Given the description of an element on the screen output the (x, y) to click on. 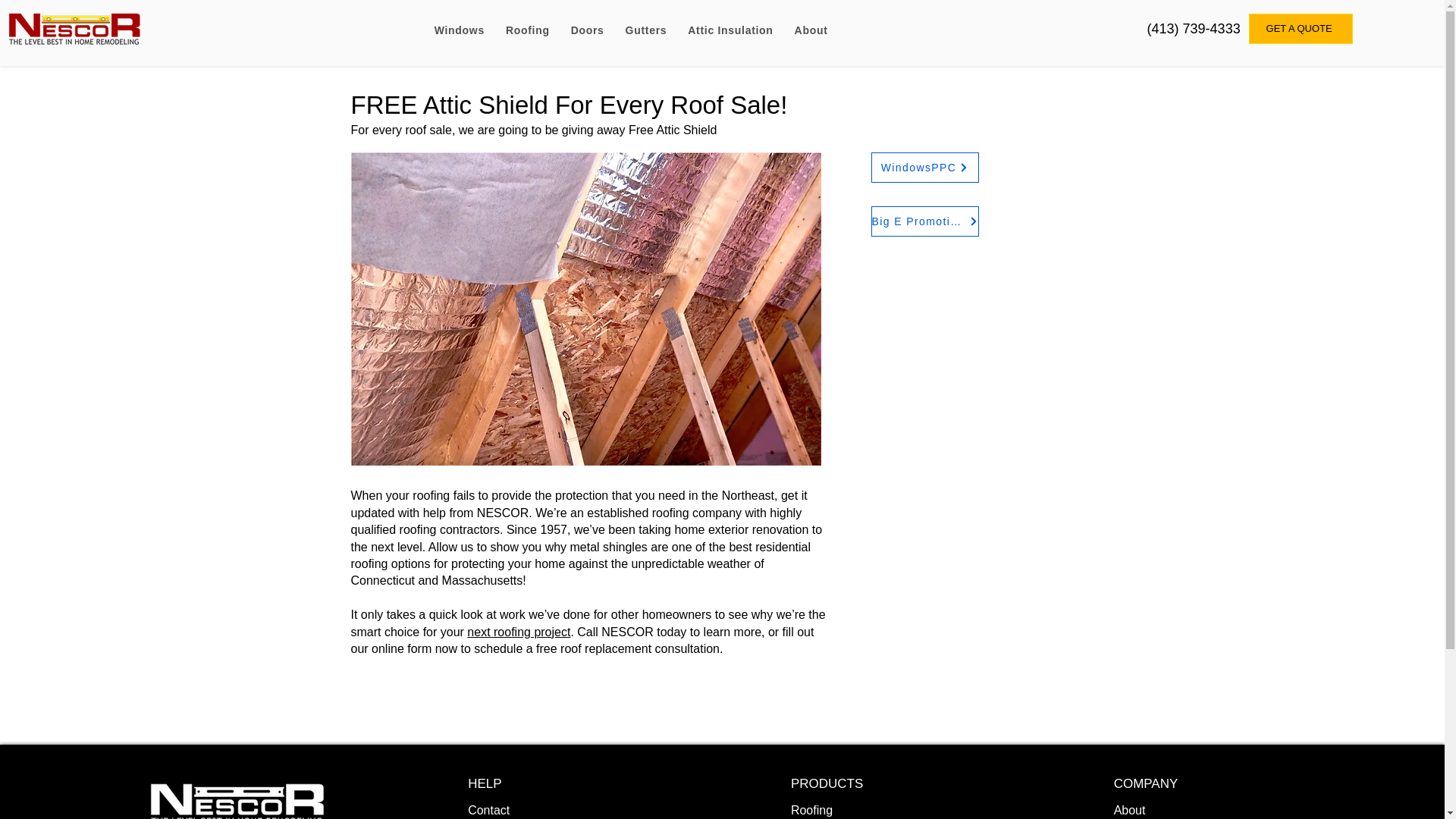
Doors (587, 30)
WindowsPPC (924, 167)
About (811, 30)
Windows (459, 30)
Gutters (646, 30)
Attic Insulation (729, 30)
About (1129, 809)
Roofing (527, 30)
Big E Promotions (924, 221)
Contact (488, 809)
GET A QUOTE (1300, 28)
Roofing (811, 809)
